Given the description of an element on the screen output the (x, y) to click on. 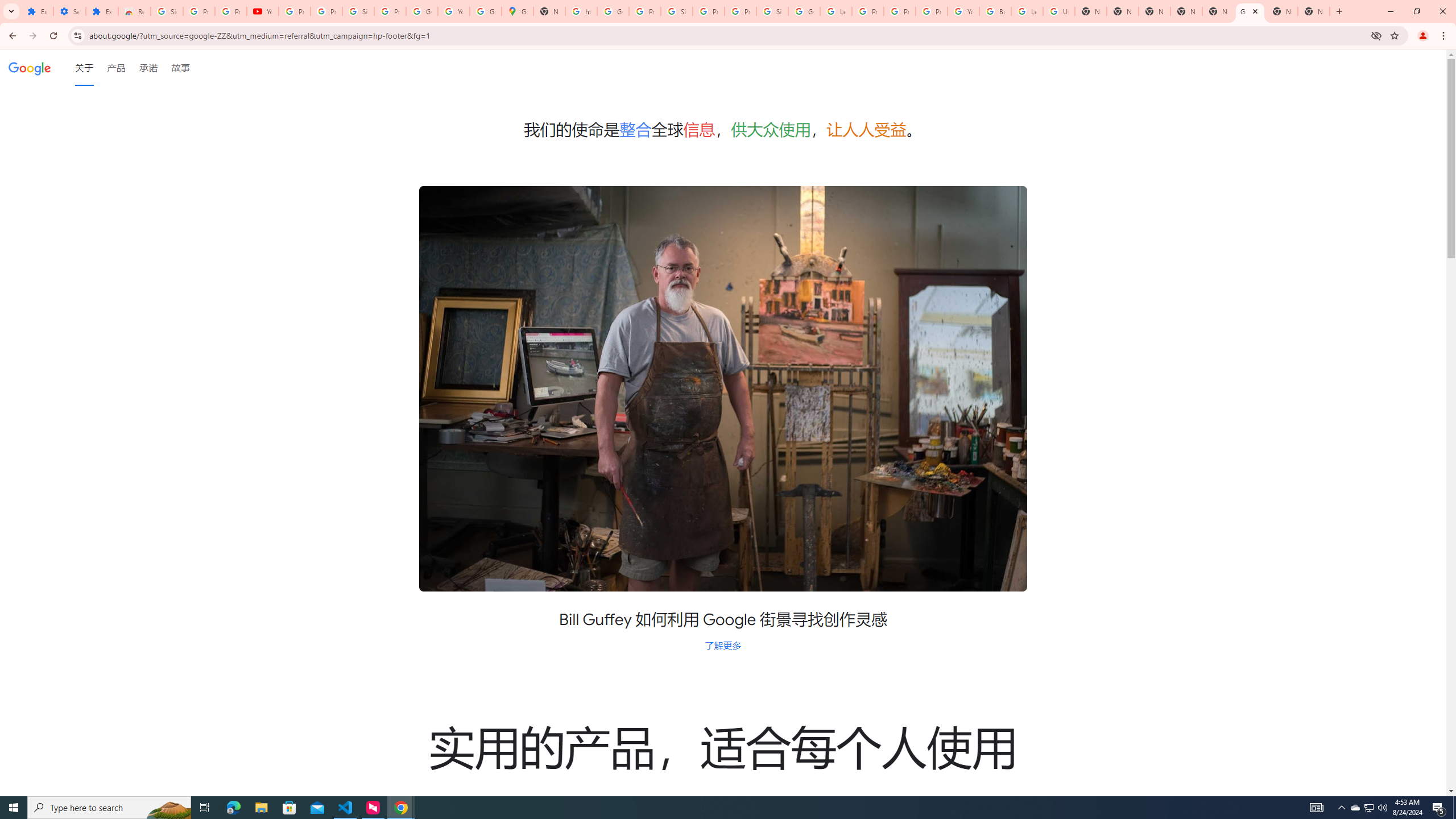
Extensions (37, 11)
Privacy Help Center - Policies Help (868, 11)
Google Account (421, 11)
Settings (69, 11)
